Given the description of an element on the screen output the (x, y) to click on. 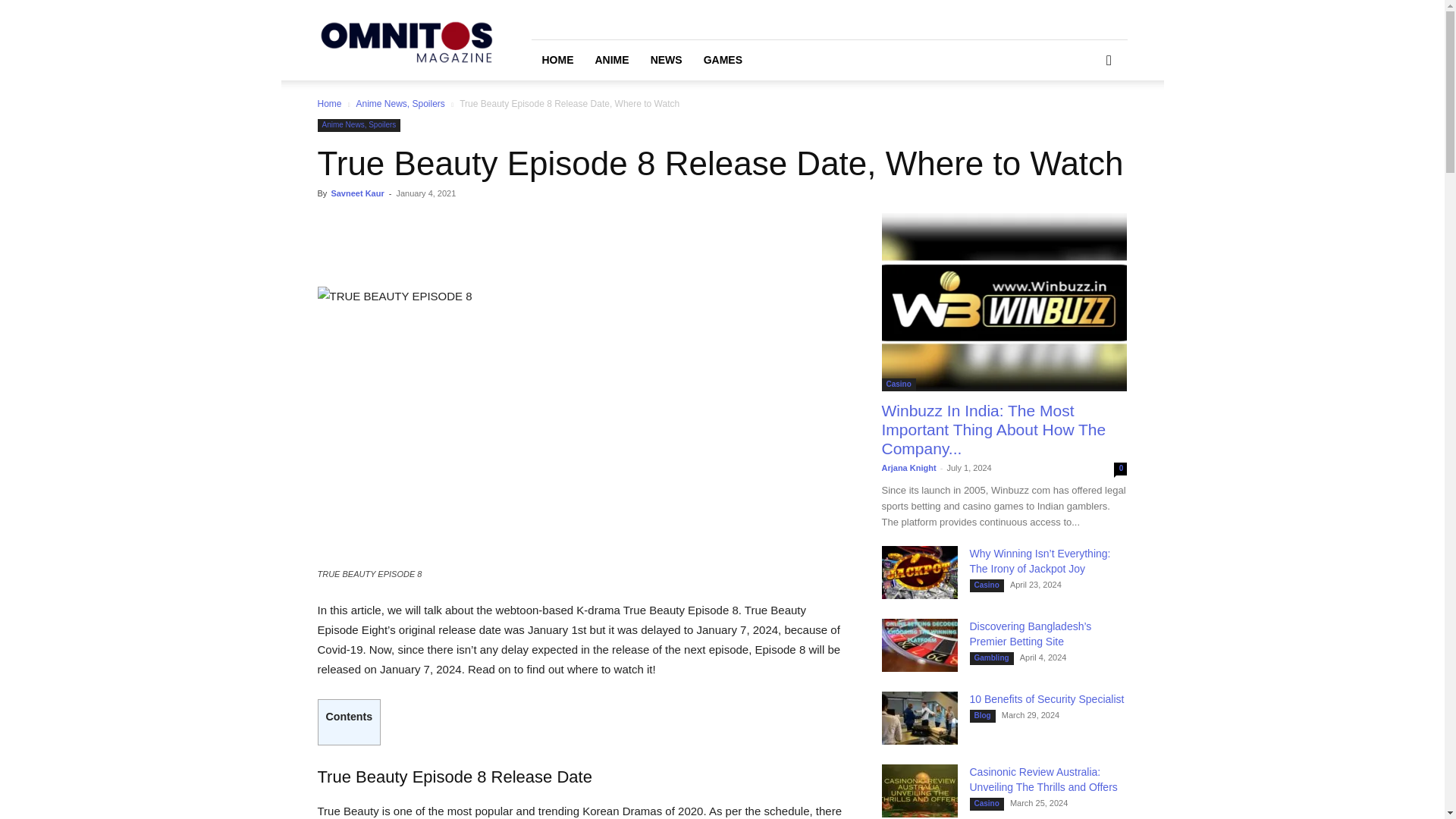
View all posts in Anime News, Spoilers (399, 103)
ANIME (611, 60)
HOME (557, 60)
